Given the description of an element on the screen output the (x, y) to click on. 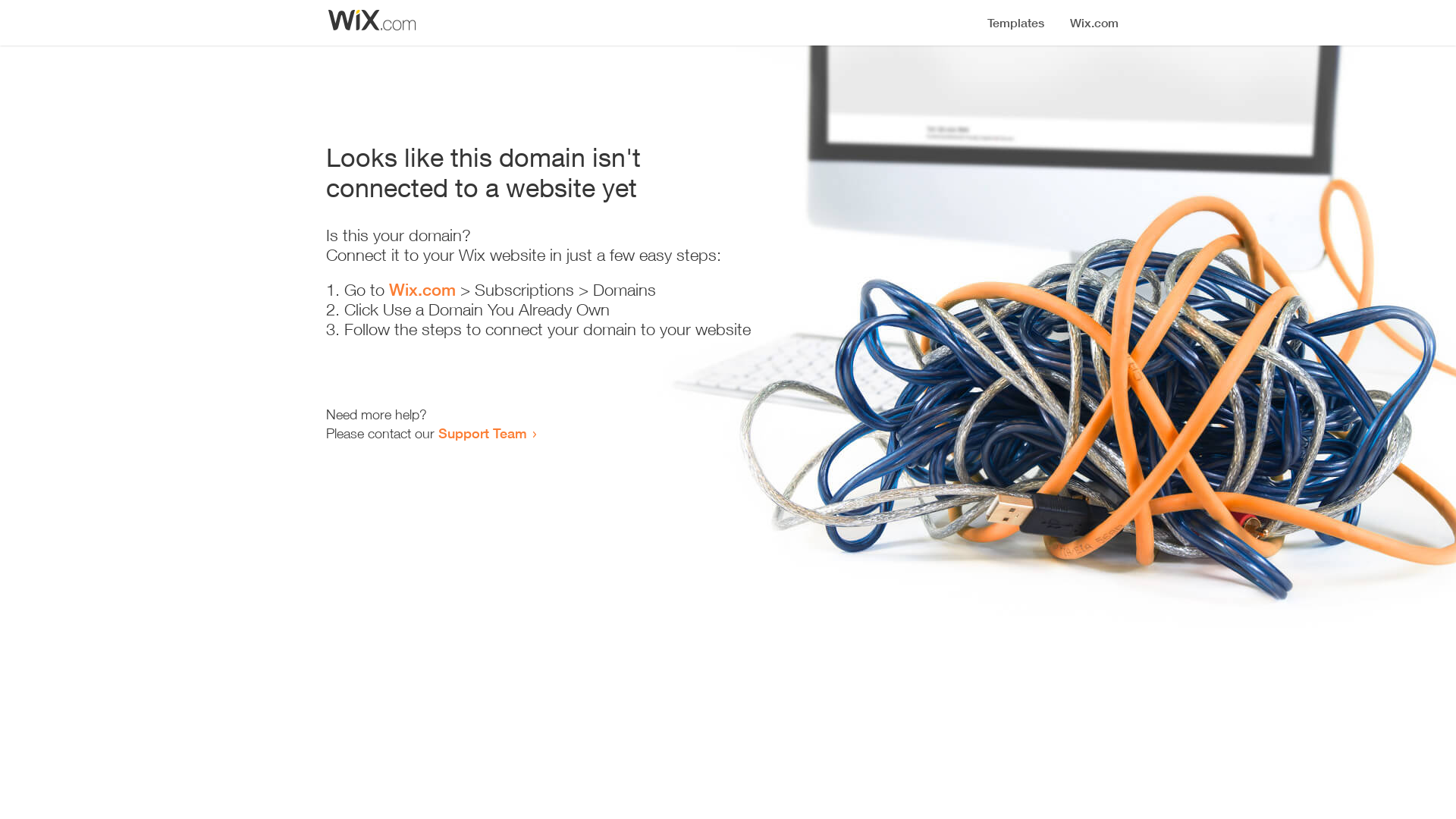
Support Team Element type: text (482, 432)
Wix.com Element type: text (422, 289)
